Given the description of an element on the screen output the (x, y) to click on. 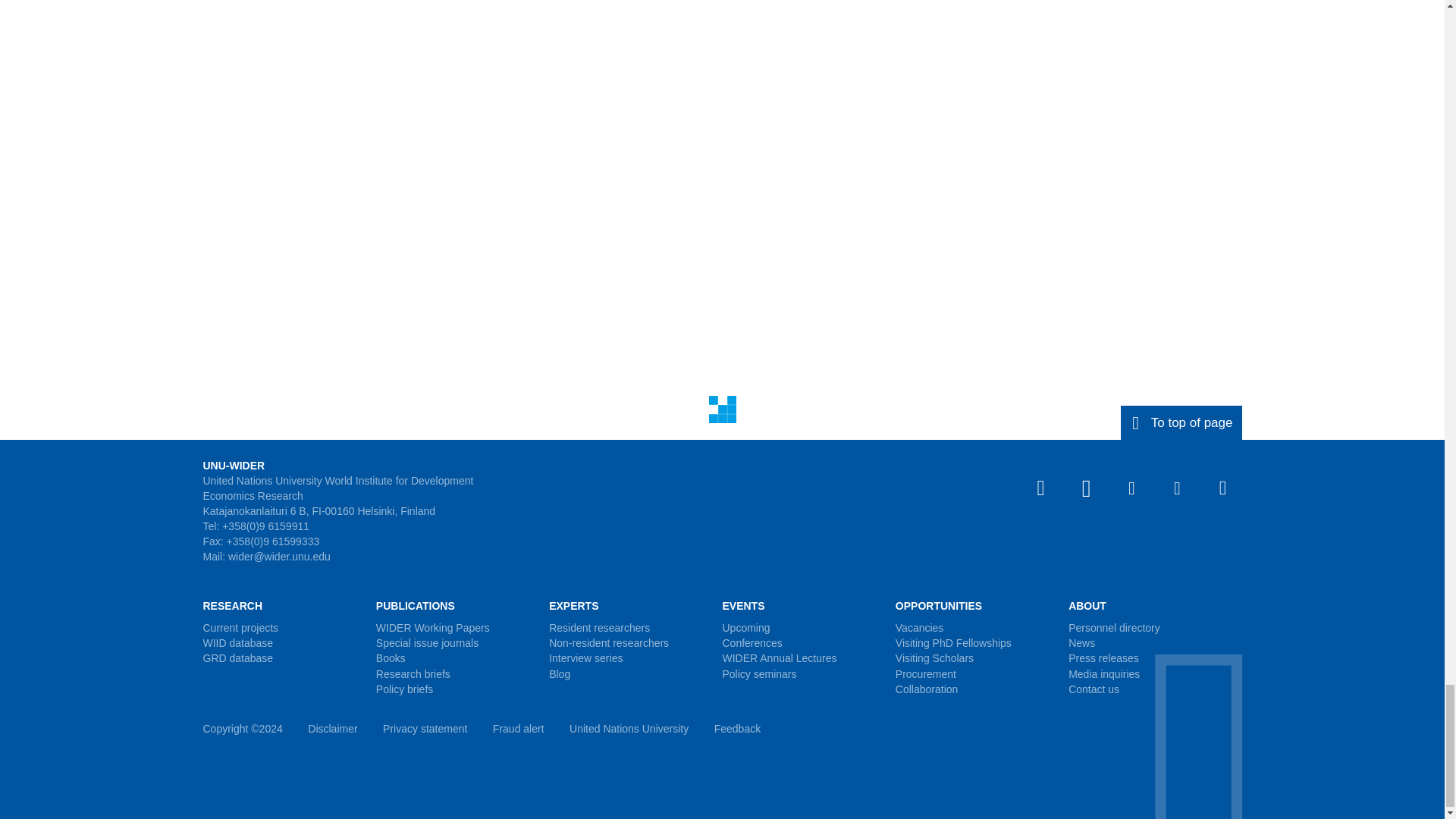
jump to the top of the page (1181, 422)
To top of page (1181, 422)
To top of page (1181, 422)
